Given the description of an element on the screen output the (x, y) to click on. 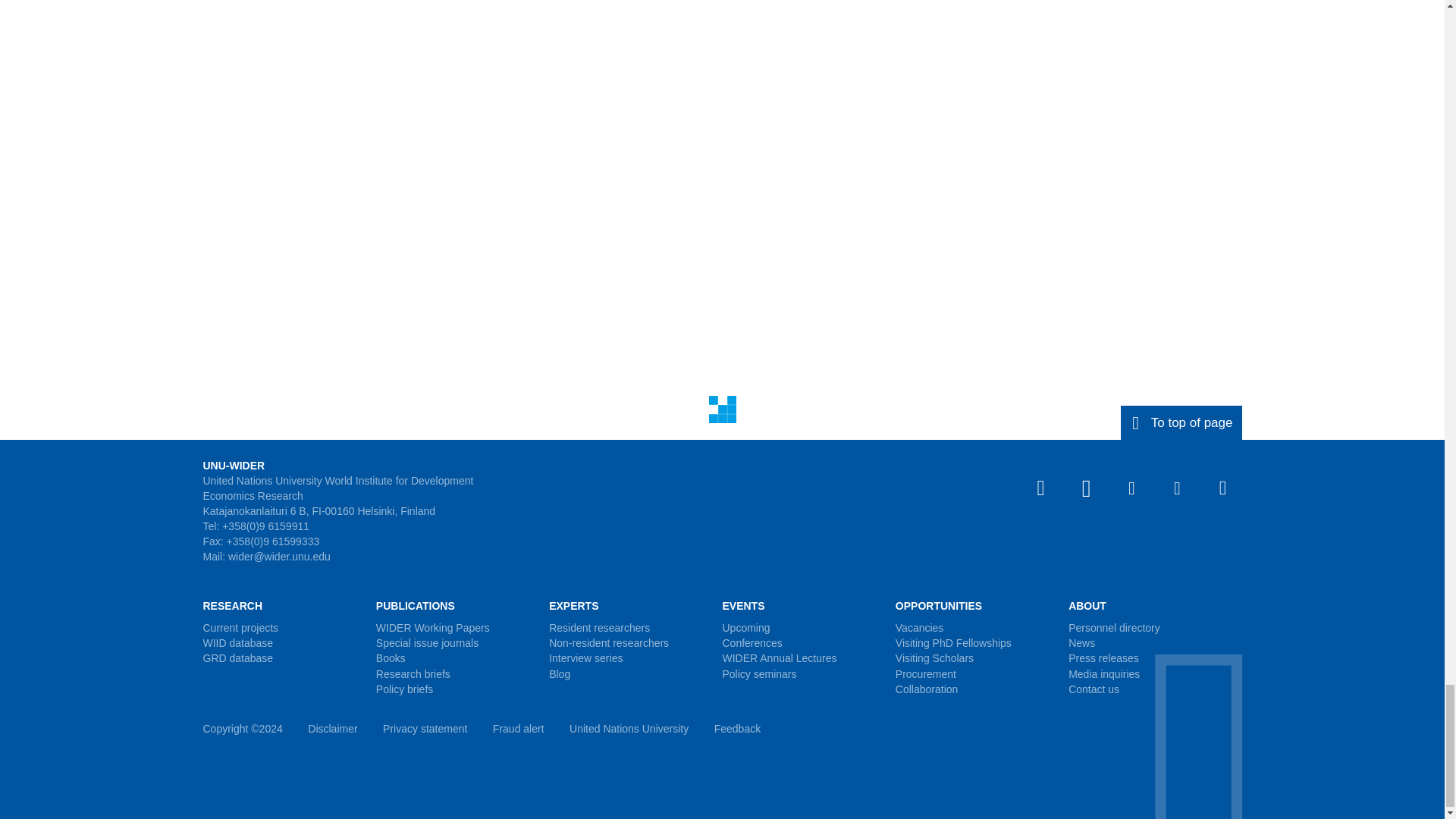
jump to the top of the page (1181, 422)
To top of page (1181, 422)
To top of page (1181, 422)
